Given the description of an element on the screen output the (x, y) to click on. 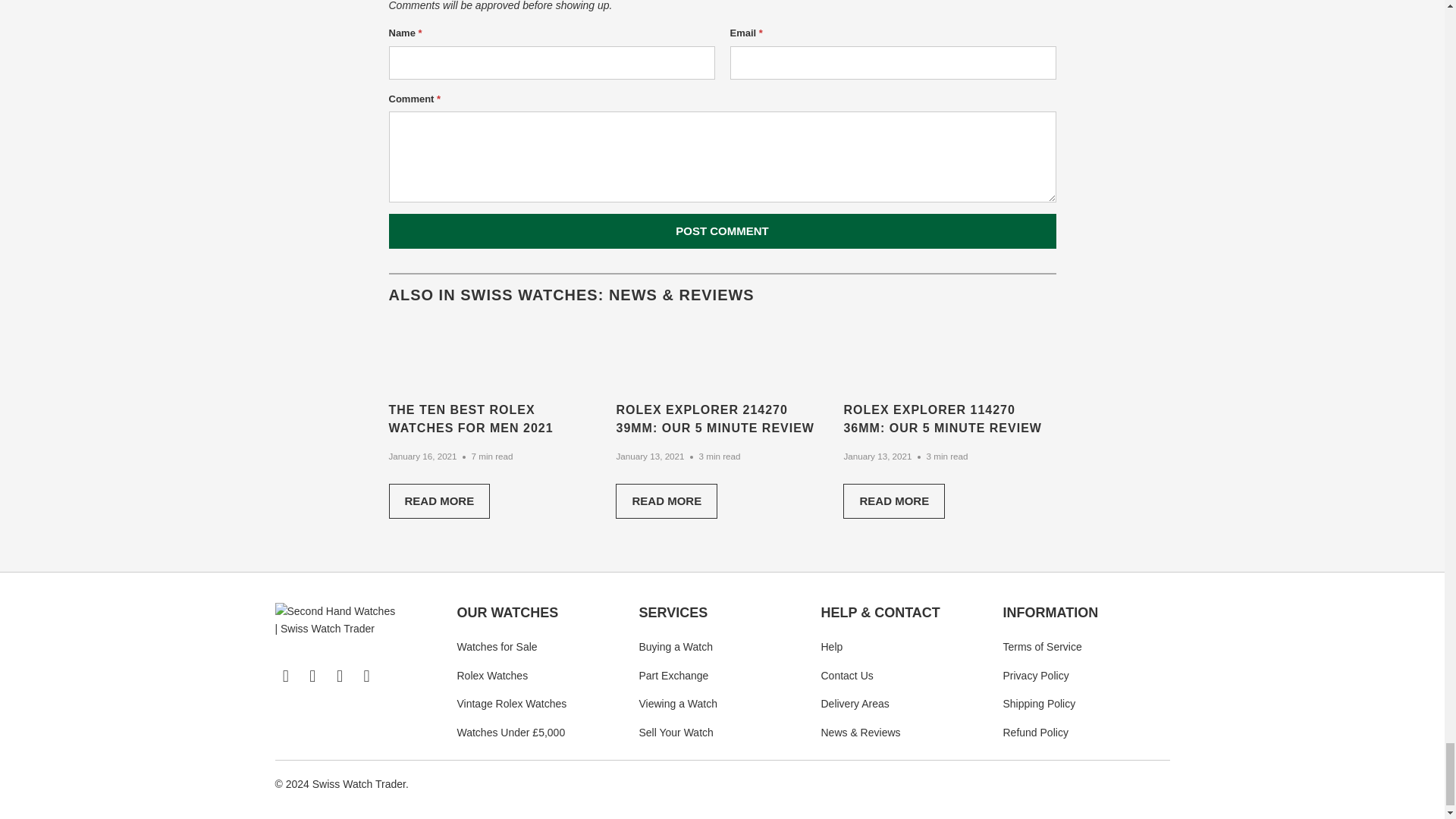
Post comment (721, 230)
